Given the description of an element on the screen output the (x, y) to click on. 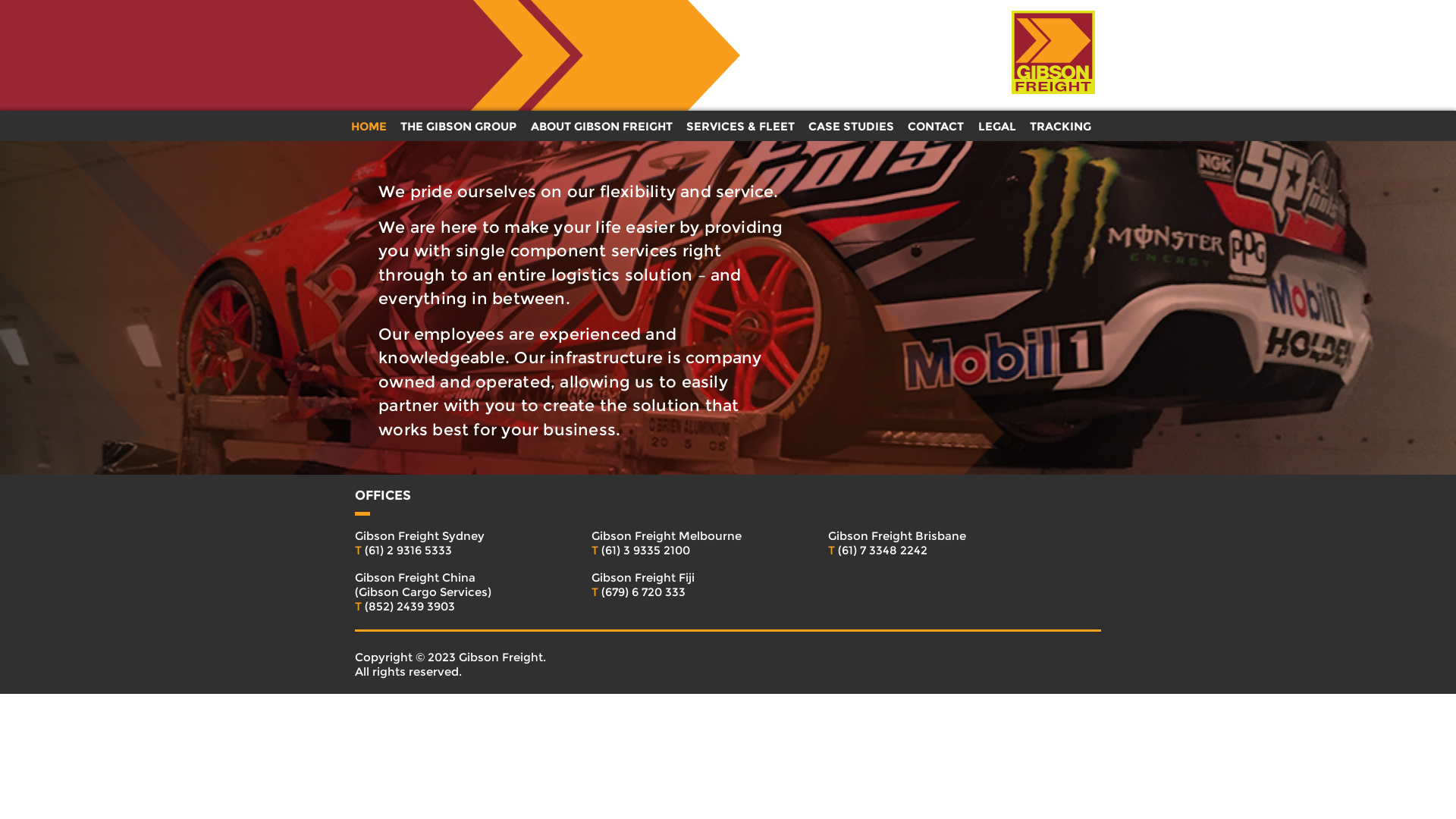
T (679) 6 720 333 Element type: text (672, 591)
T (852) 2439 3903 Element type: text (435, 606)
Gibson Freight Sydney Element type: text (435, 535)
CASE STUDIES Element type: text (851, 126)
T (61) 2 9316 5333 Element type: text (435, 549)
TRACKING Element type: text (1060, 126)
LEGAL Element type: text (997, 126)
Gibson Freight China (Gibson Cargo Services) Element type: text (435, 584)
ABOUT GIBSON FREIGHT Element type: text (601, 126)
Gibson Freight Brisbane Element type: text (909, 535)
Gibson Freight Melbourne Element type: text (672, 535)
SERVICES & FLEET Element type: text (740, 126)
T (61) 7 3348 2242 Element type: text (909, 549)
CONTACT Element type: text (935, 126)
HOME Element type: text (368, 126)
T (61) 3 9335 2100 Element type: text (672, 549)
Gibson Freight Fiji Element type: text (672, 577)
THE GIBSON GROUP Element type: text (458, 126)
